Given the description of an element on the screen output the (x, y) to click on. 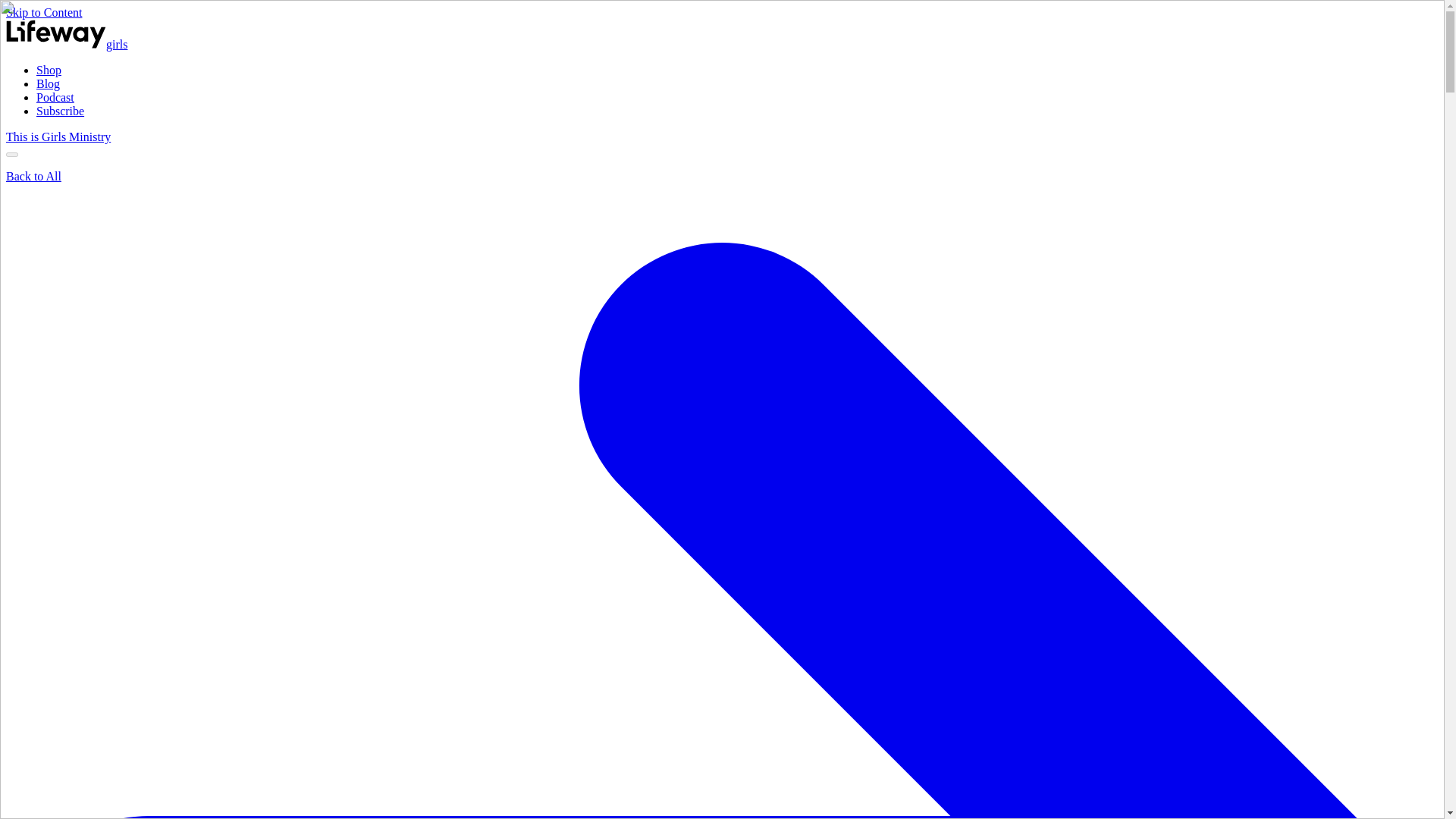
girls (66, 43)
Skip to Content (43, 11)
Podcast (55, 97)
This is Girls Ministry (57, 136)
Blog (47, 83)
Subscribe (60, 110)
Shop (48, 69)
